Given the description of an element on the screen output the (x, y) to click on. 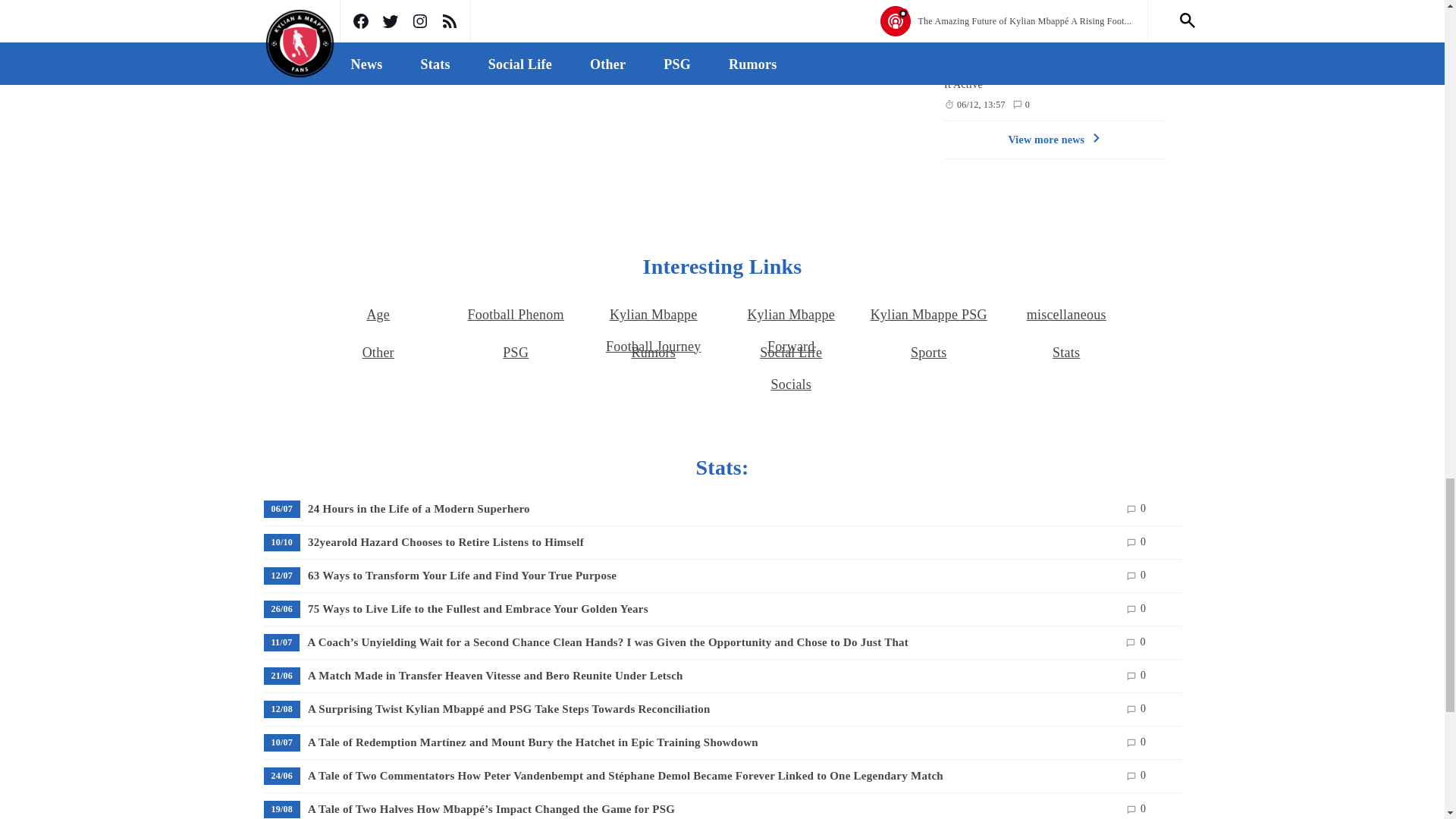
Monday 25 Dec 2023 12:34 (981, 15)
